Given the description of an element on the screen output the (x, y) to click on. 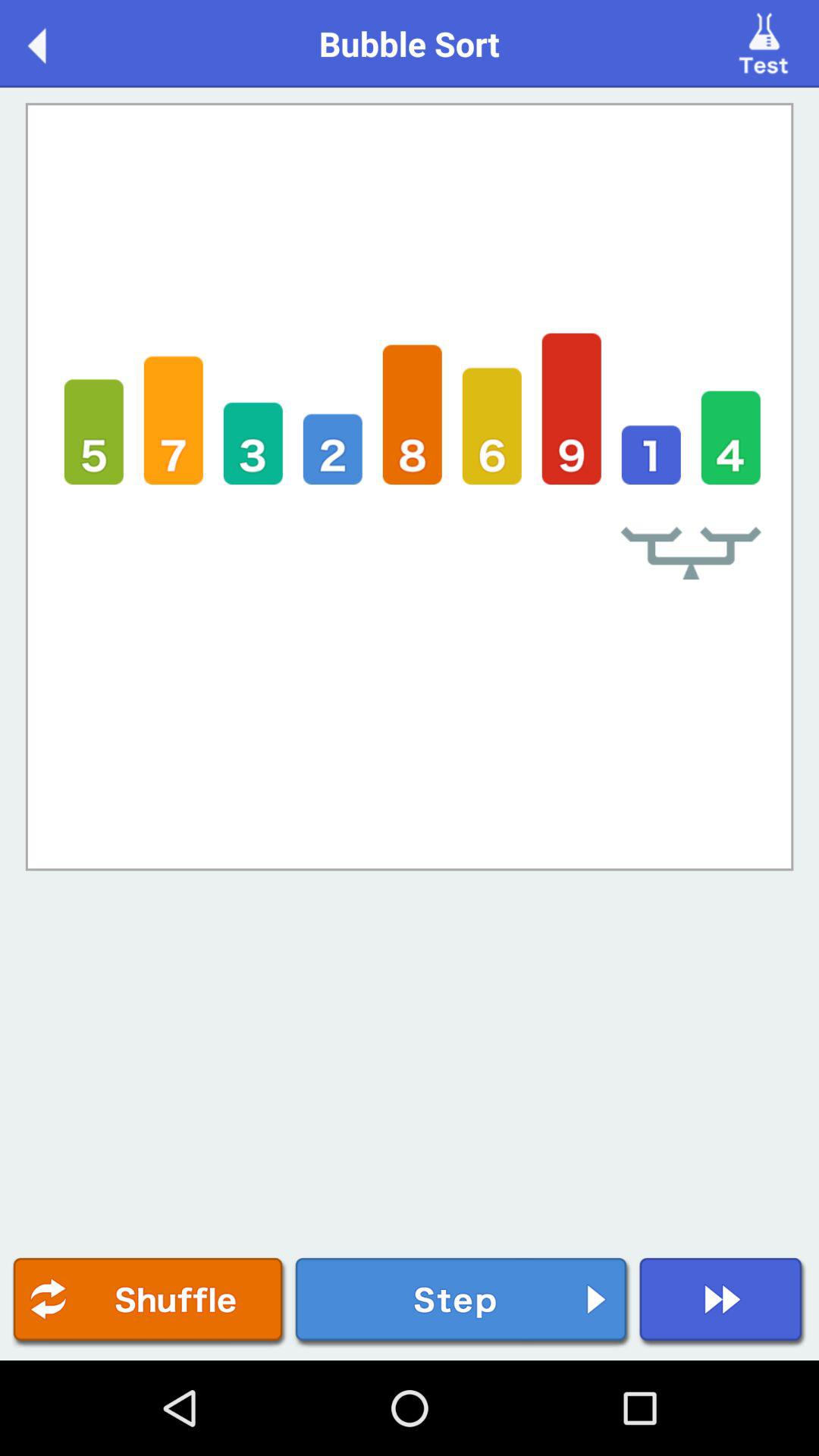
turn on item to the right of bubble sort icon (766, 42)
